Given the description of an element on the screen output the (x, y) to click on. 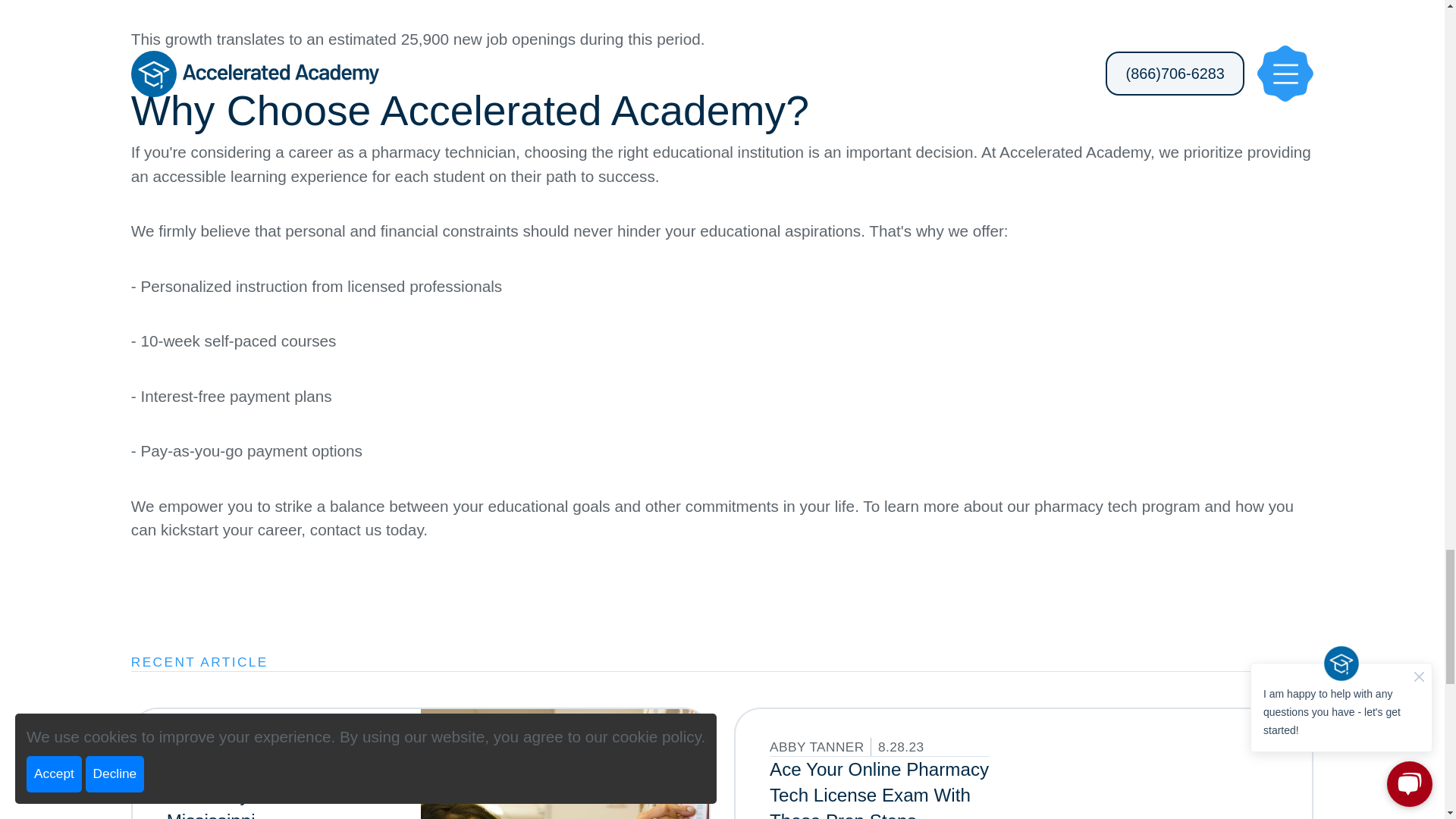
contact us today. (369, 529)
considering a career as a pharmacy technician (352, 151)
